Given the description of an element on the screen output the (x, y) to click on. 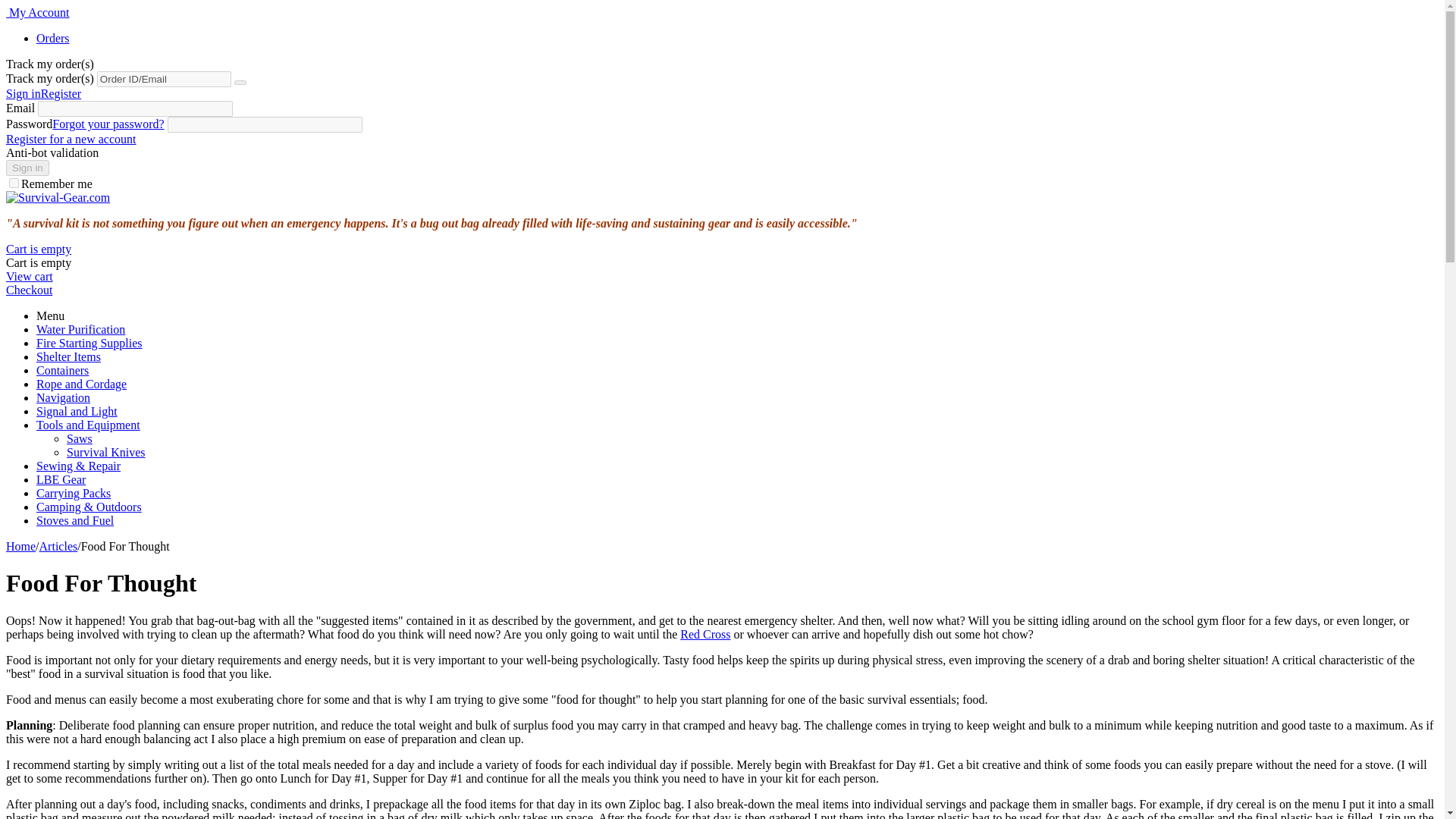
Register (60, 92)
Shelter Items (68, 356)
Survival-Gear.com (57, 196)
LBE Gear (60, 479)
Y (13, 183)
Fire Starting Supplies (89, 342)
 My Account (37, 11)
Menu (50, 315)
Go (240, 82)
Survival-Gear.com (57, 197)
